Given the description of an element on the screen output the (x, y) to click on. 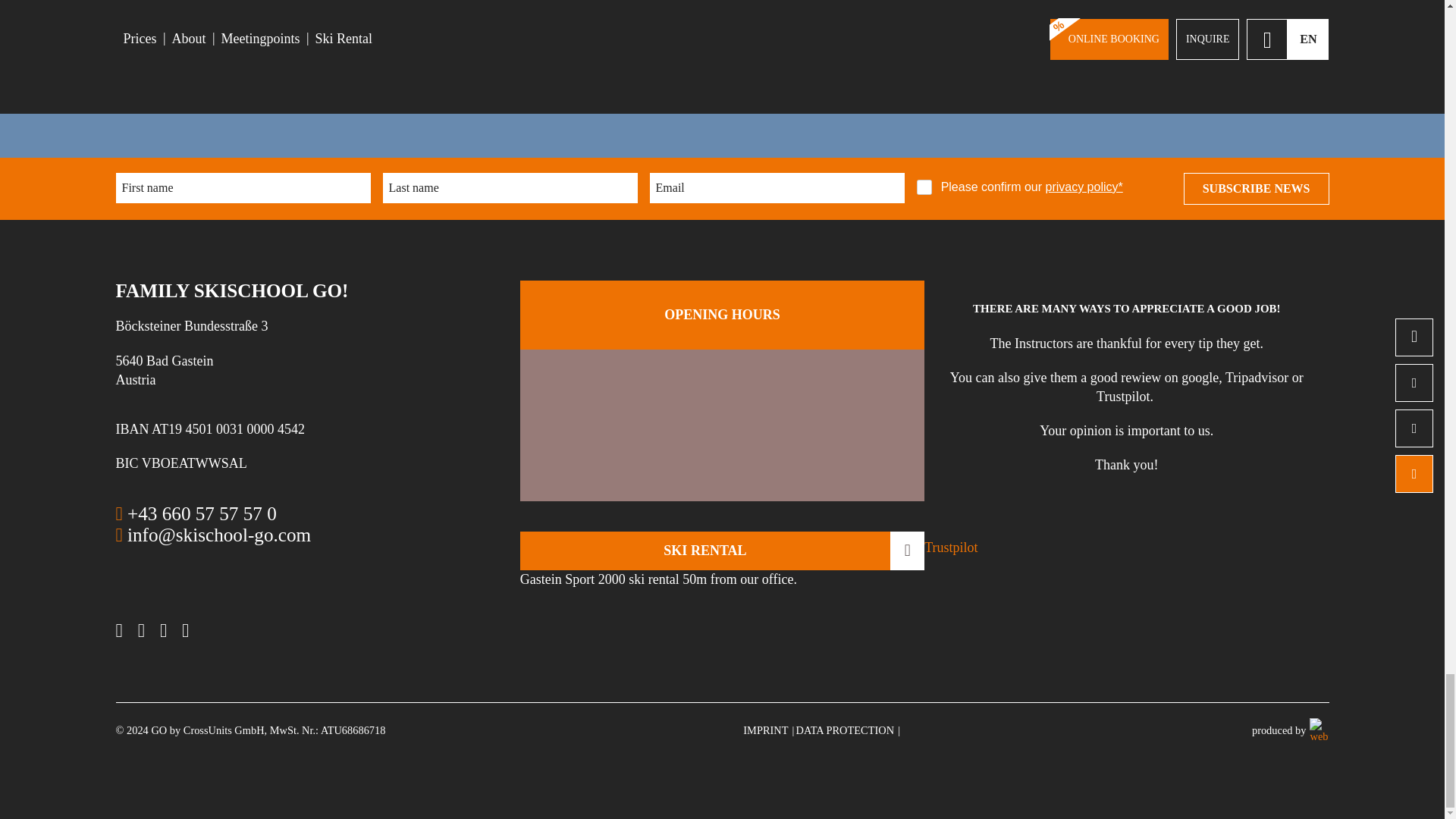
Ski school go opening hours (721, 314)
webwg (1316, 730)
Sport 2000 Ski Rent (721, 550)
00436605757570 (195, 513)
